Given the description of an element on the screen output the (x, y) to click on. 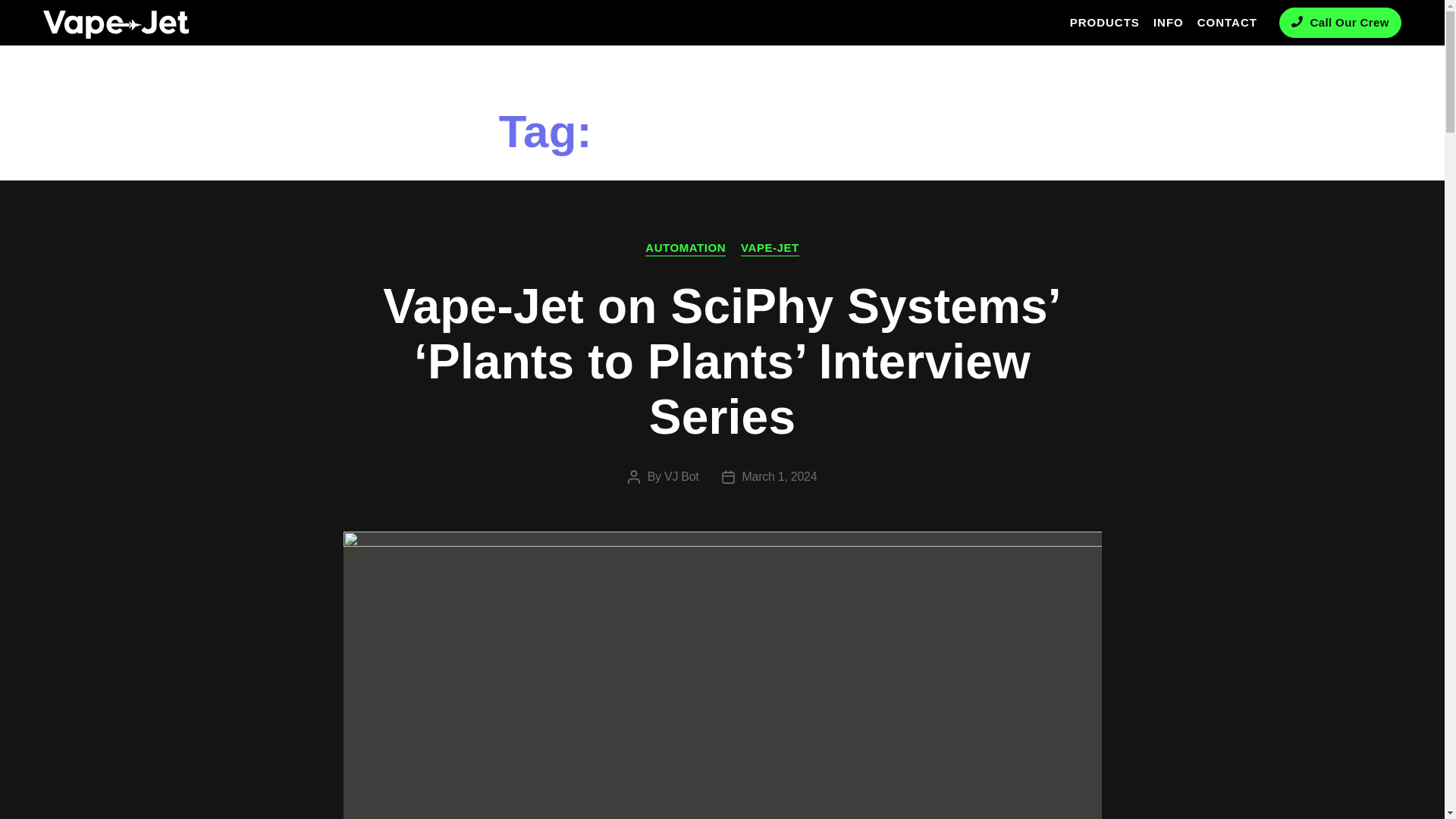
CONTACT (1227, 22)
INFO (1169, 22)
PRODUCTS (1104, 22)
